Given the description of an element on the screen output the (x, y) to click on. 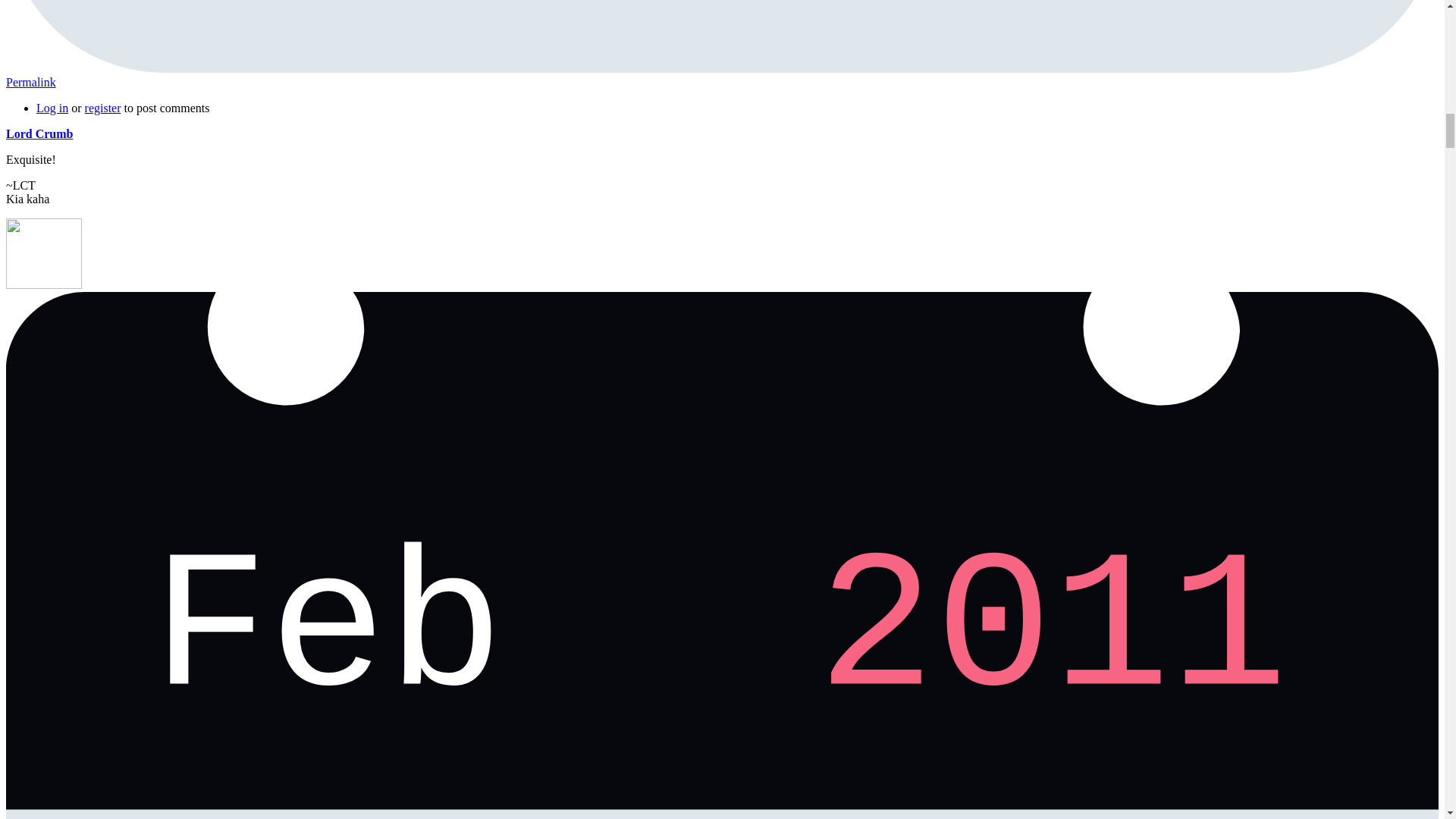
Lord Crumb (38, 133)
View user profile. (38, 133)
Permalink (30, 82)
Log in (52, 107)
register (102, 107)
